Given the description of an element on the screen output the (x, y) to click on. 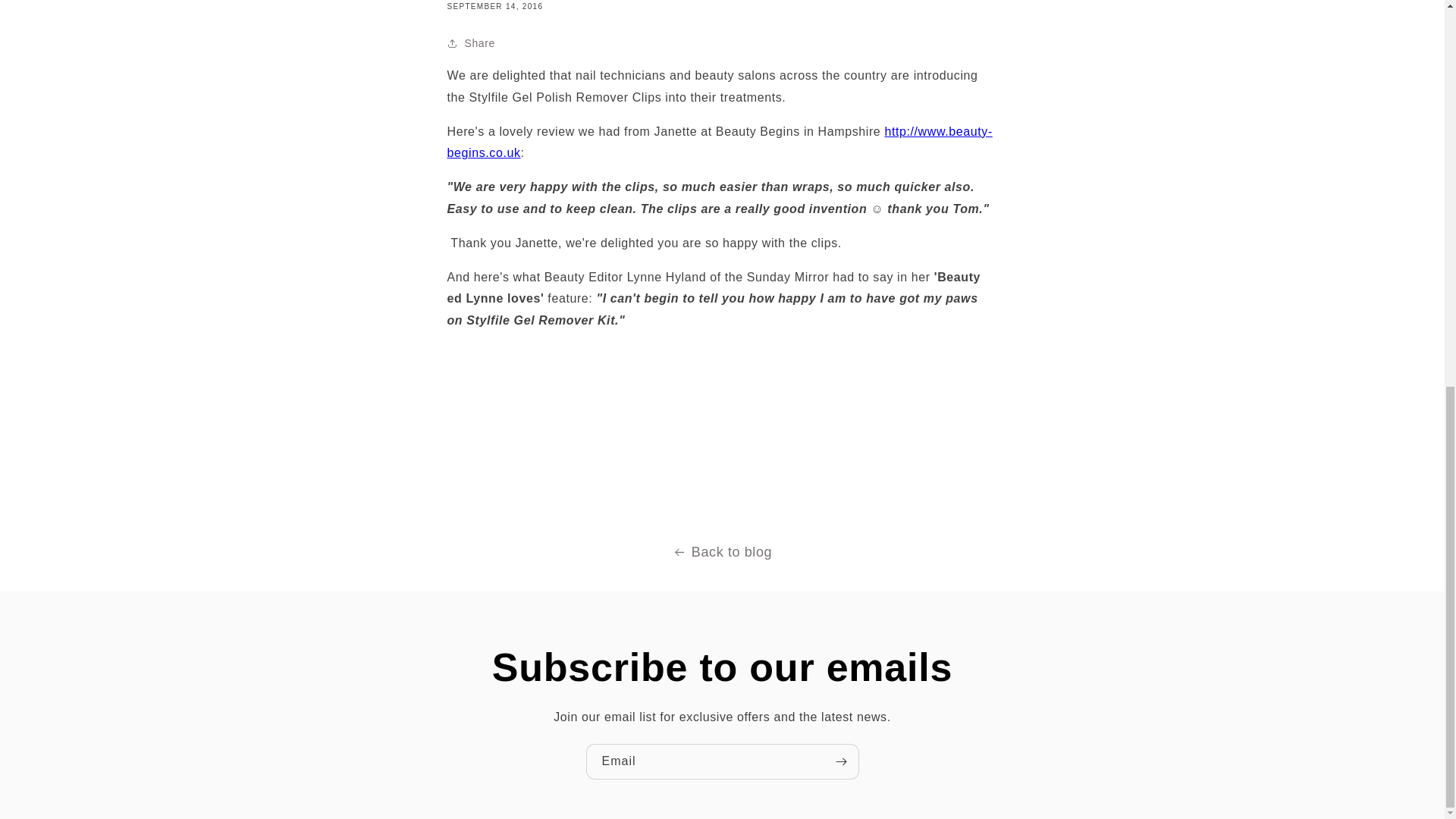
Sylfile Gel clips used by Beauty Begins in Hampshire (719, 142)
